Given the description of an element on the screen output the (x, y) to click on. 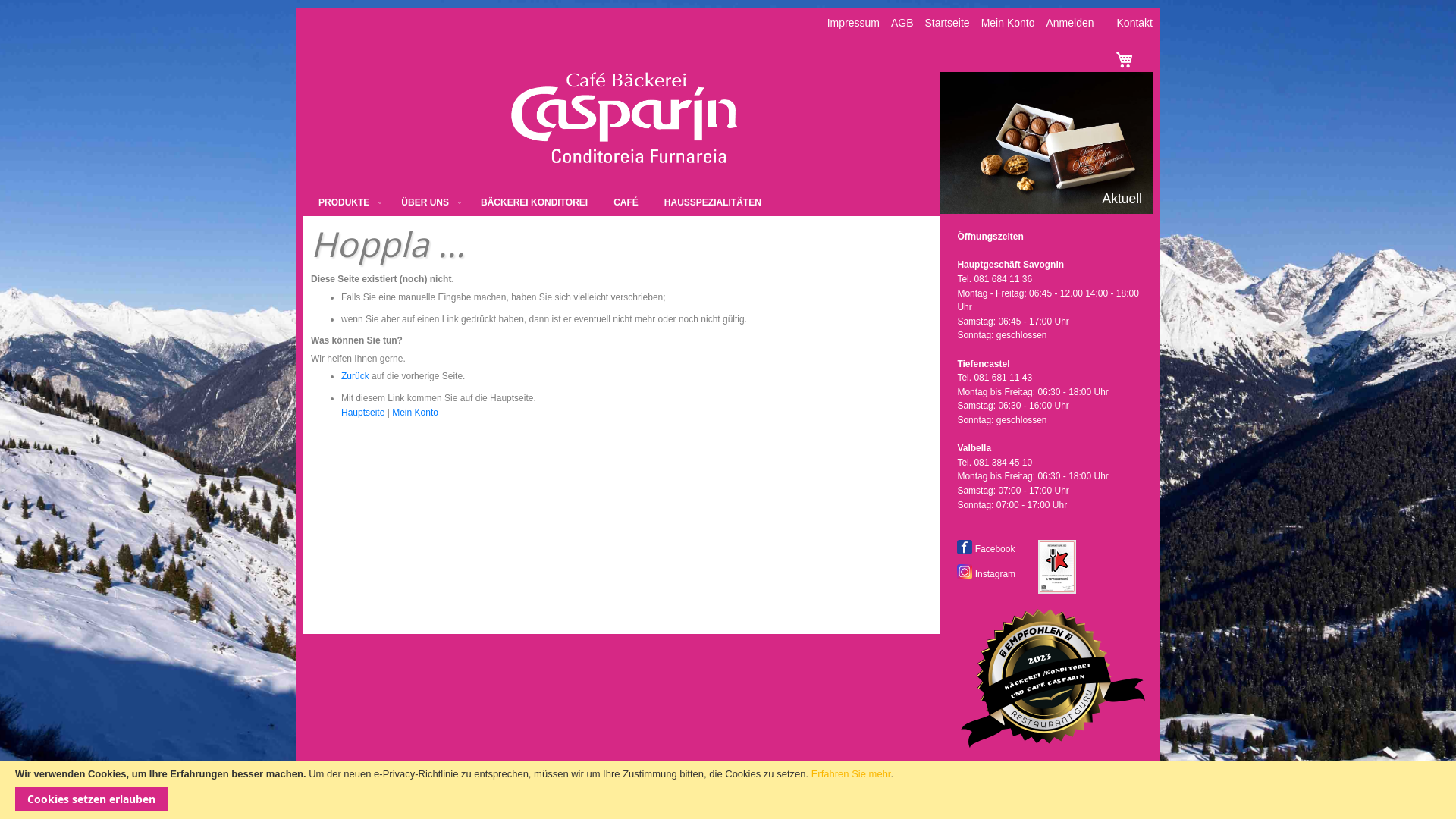
Hauptseite Element type: text (362, 412)
Kontakt Element type: text (1134, 22)
Aktuell Element type: text (1121, 198)
Startseite Element type: text (947, 22)
Mein Konto Element type: text (415, 412)
Anmelden Element type: text (1069, 22)
Facebook Element type: text (985, 548)
Mein Konto Element type: text (1008, 22)
VERMICELLES Element type: hover (1046, 141)
Cookies setzen erlauben Element type: text (91, 799)
AGB Element type: text (902, 22)
Impressum Element type: text (853, 22)
Instagram Element type: hover (964, 571)
PRODUKTE Element type: text (346, 202)
Erfahren Sie mehr Element type: text (851, 773)
Mein Warenkorb Element type: text (1123, 59)
Facebook Element type: hover (964, 546)
Instagram Element type: text (986, 573)
